Given the description of an element on the screen output the (x, y) to click on. 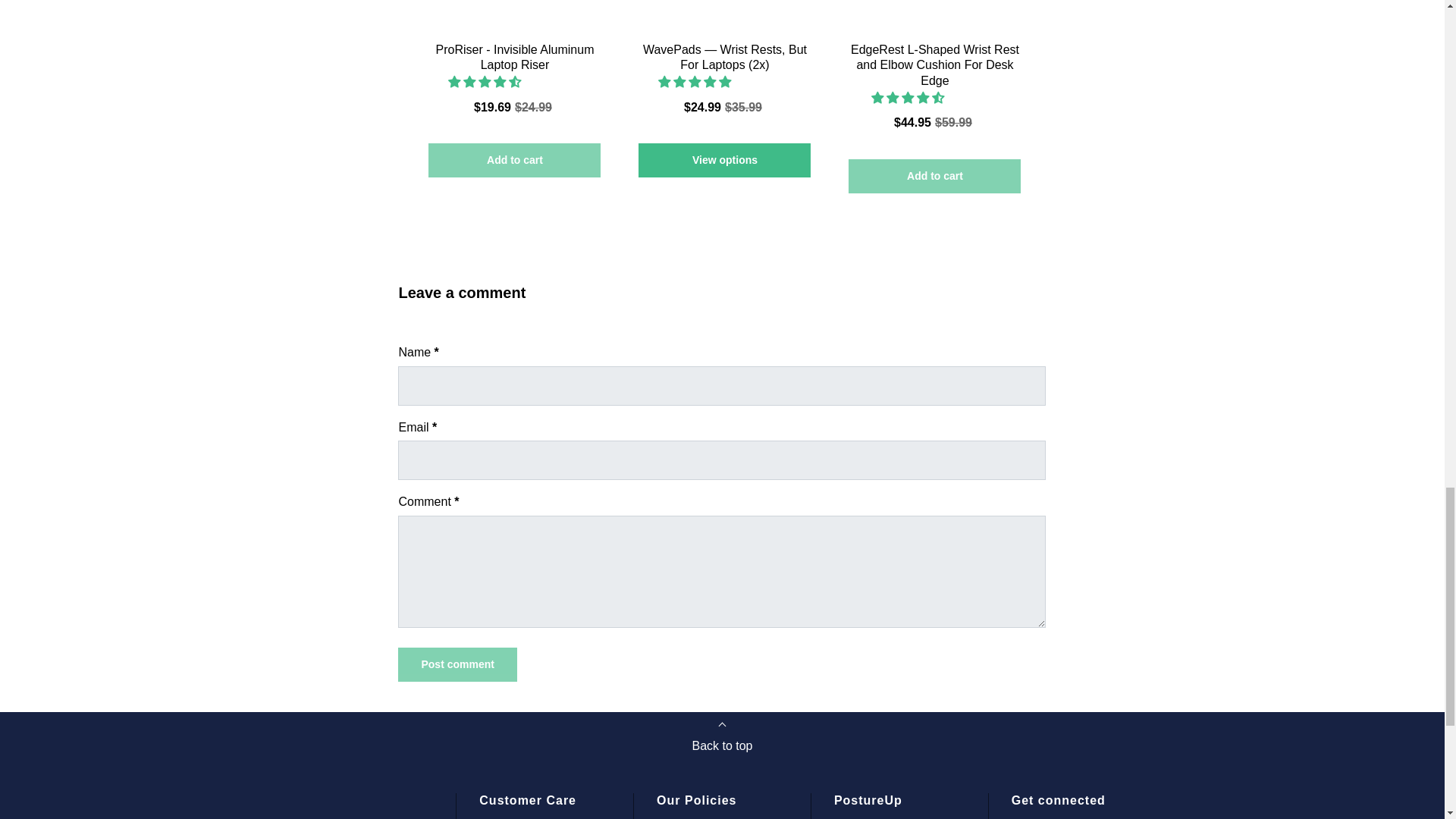
Previous (405, 29)
Add to cart (934, 175)
Post comment (456, 664)
Add to cart (513, 160)
View options (724, 160)
